Given the description of an element on the screen output the (x, y) to click on. 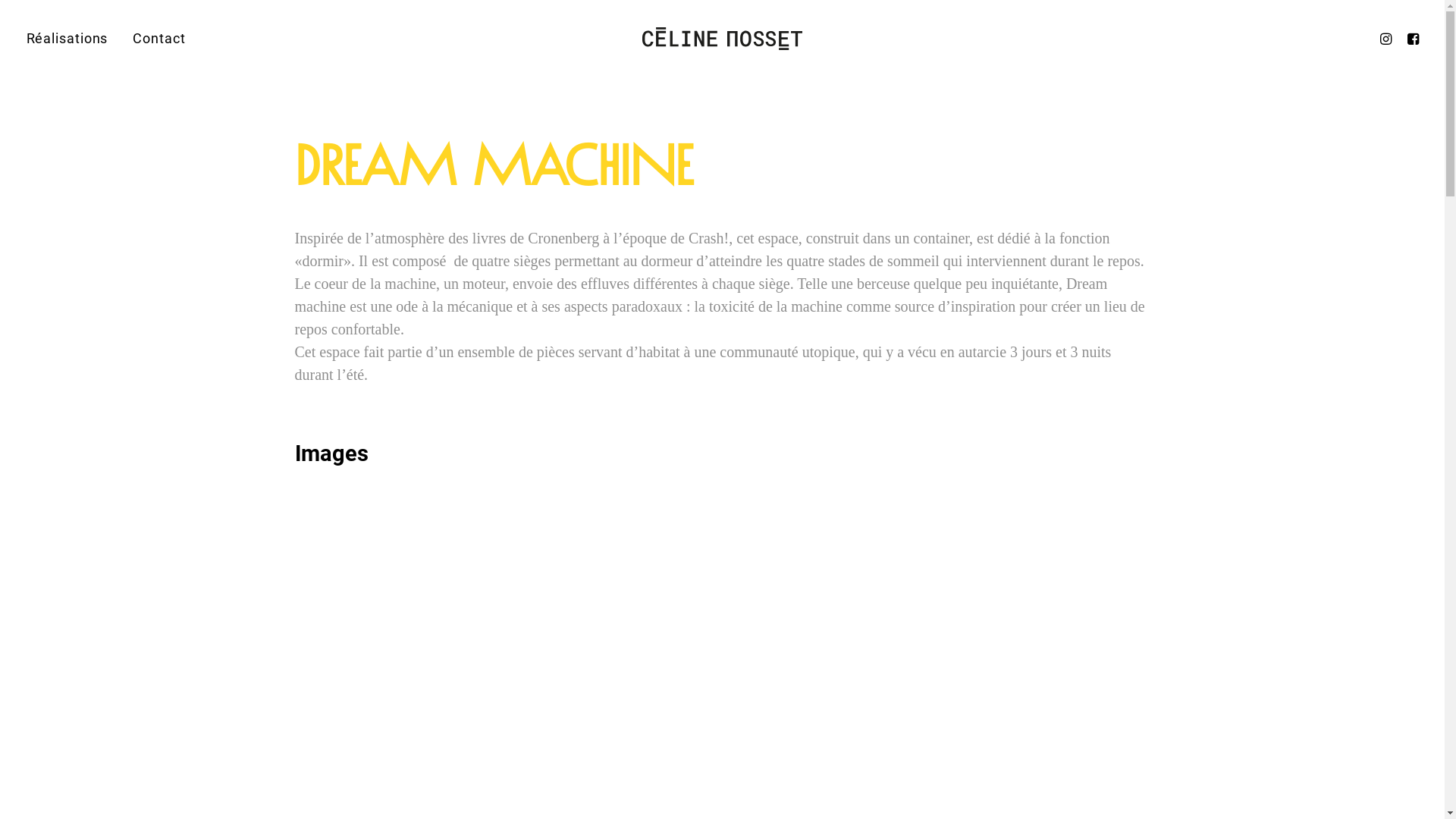
Contact Element type: text (153, 38)
